Given the description of an element on the screen output the (x, y) to click on. 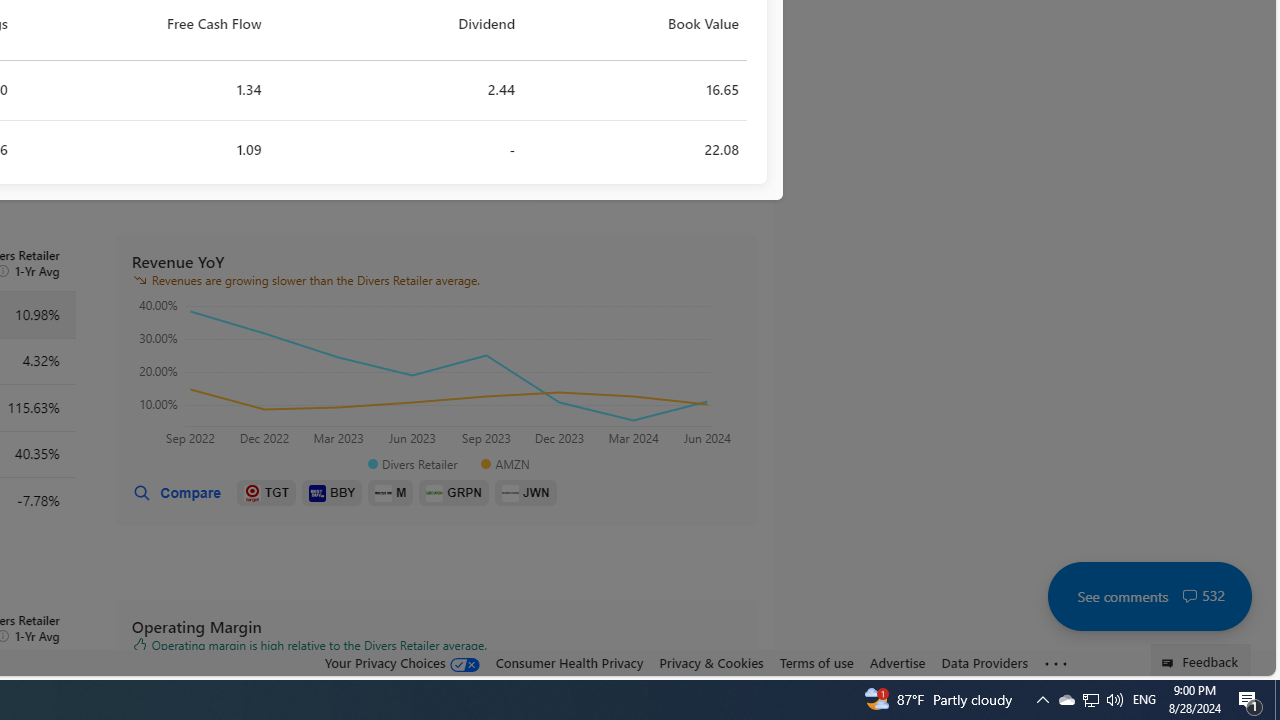
Your Privacy Choices (401, 663)
Your Privacy Choices (401, 662)
Privacy & Cookies (711, 663)
Advertise (897, 662)
BBY (332, 493)
Feedback (1200, 659)
Class: cwt-icon-vector (1190, 596)
Class: feedback_link_icon-DS-EntryPoint1-1 (1170, 663)
M (390, 493)
Class: oneFooter_seeMore-DS-EntryPoint1-1 (1055, 663)
TGT (265, 493)
GRPN (454, 493)
Terms of use (816, 662)
